Given the description of an element on the screen output the (x, y) to click on. 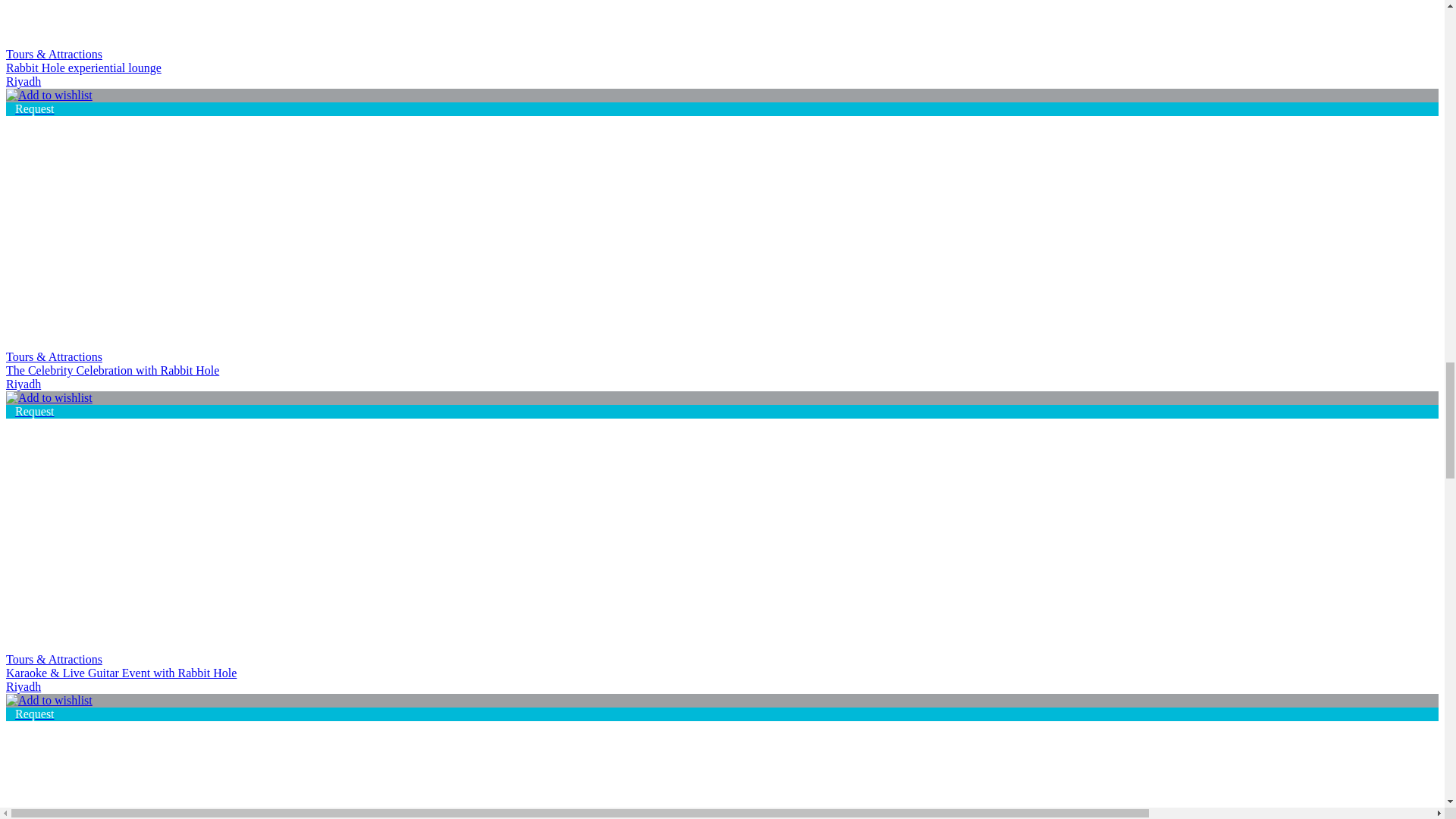
Add to wishlist (49, 700)
Add to wishlist (49, 95)
The Celebrity Celebration with Rabbit Hole (167, 202)
Add to wishlist (49, 397)
